Given the description of an element on the screen output the (x, y) to click on. 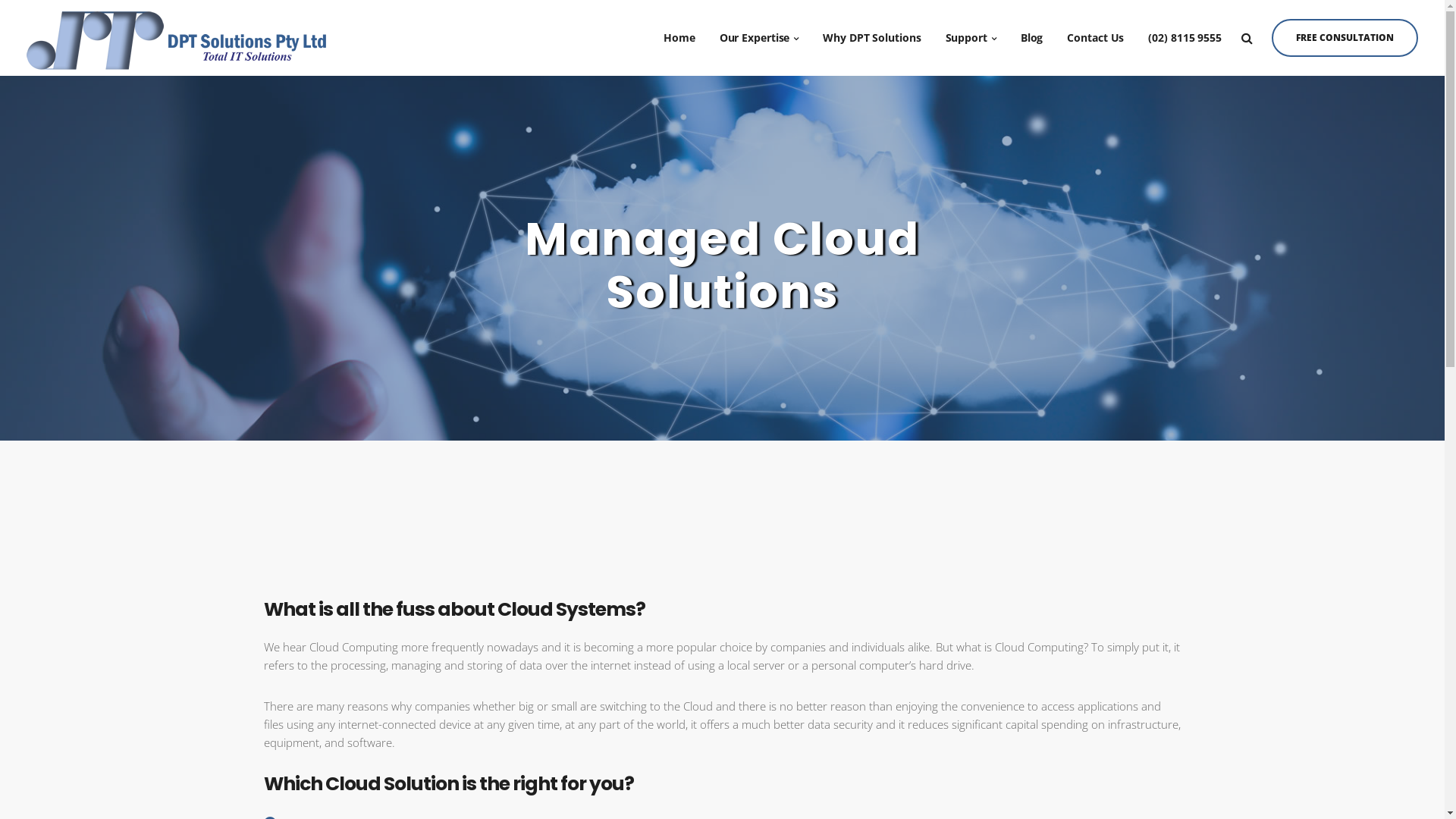
CLICK HERE Element type: text (723, 699)
Home Element type: text (679, 37)
Contact Us Element type: text (1094, 37)
Our Expertise Element type: text (759, 37)
Privacy Policy Element type: text (1047, 790)
(02) 8115 9555 Element type: text (1184, 37)
Why DPT Solutions Element type: text (871, 37)
Support Element type: text (970, 37)
Terms & Conditions Element type: text (1144, 790)
Blog Element type: text (1031, 37)
FREE CONSULTATION Element type: text (1344, 37)
